Given the description of an element on the screen output the (x, y) to click on. 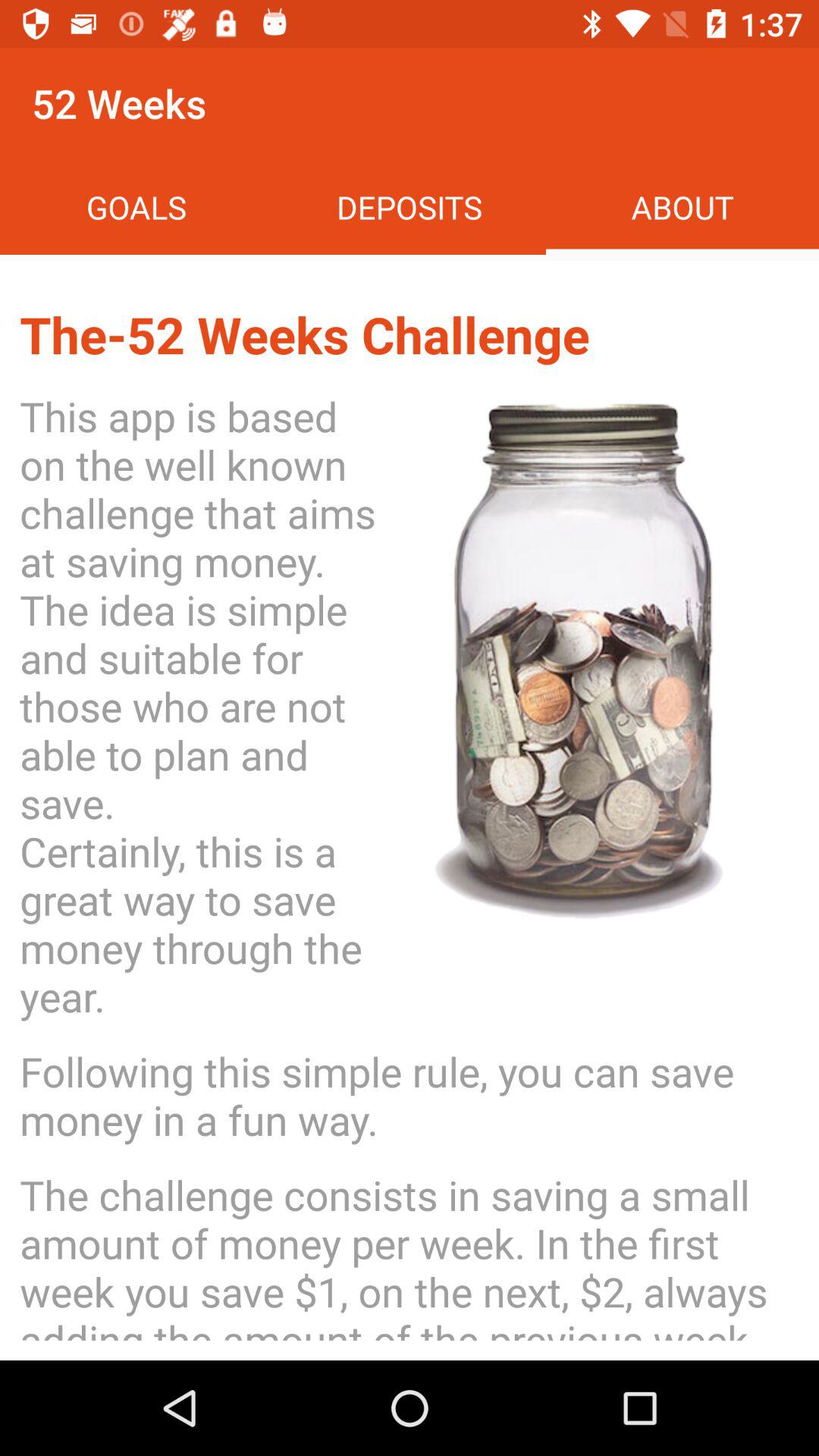
tap deposits item (409, 206)
